Given the description of an element on the screen output the (x, y) to click on. 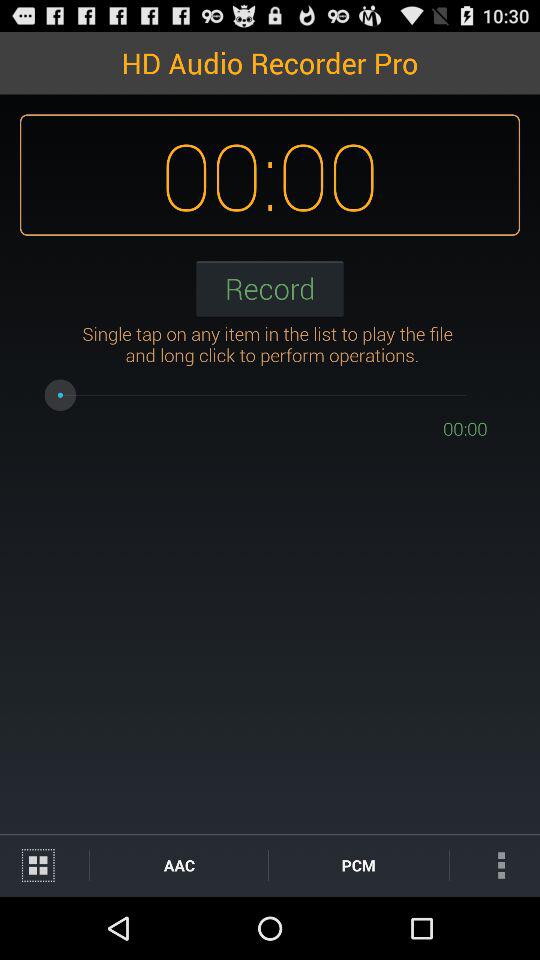
click aac icon (178, 864)
